Given the description of an element on the screen output the (x, y) to click on. 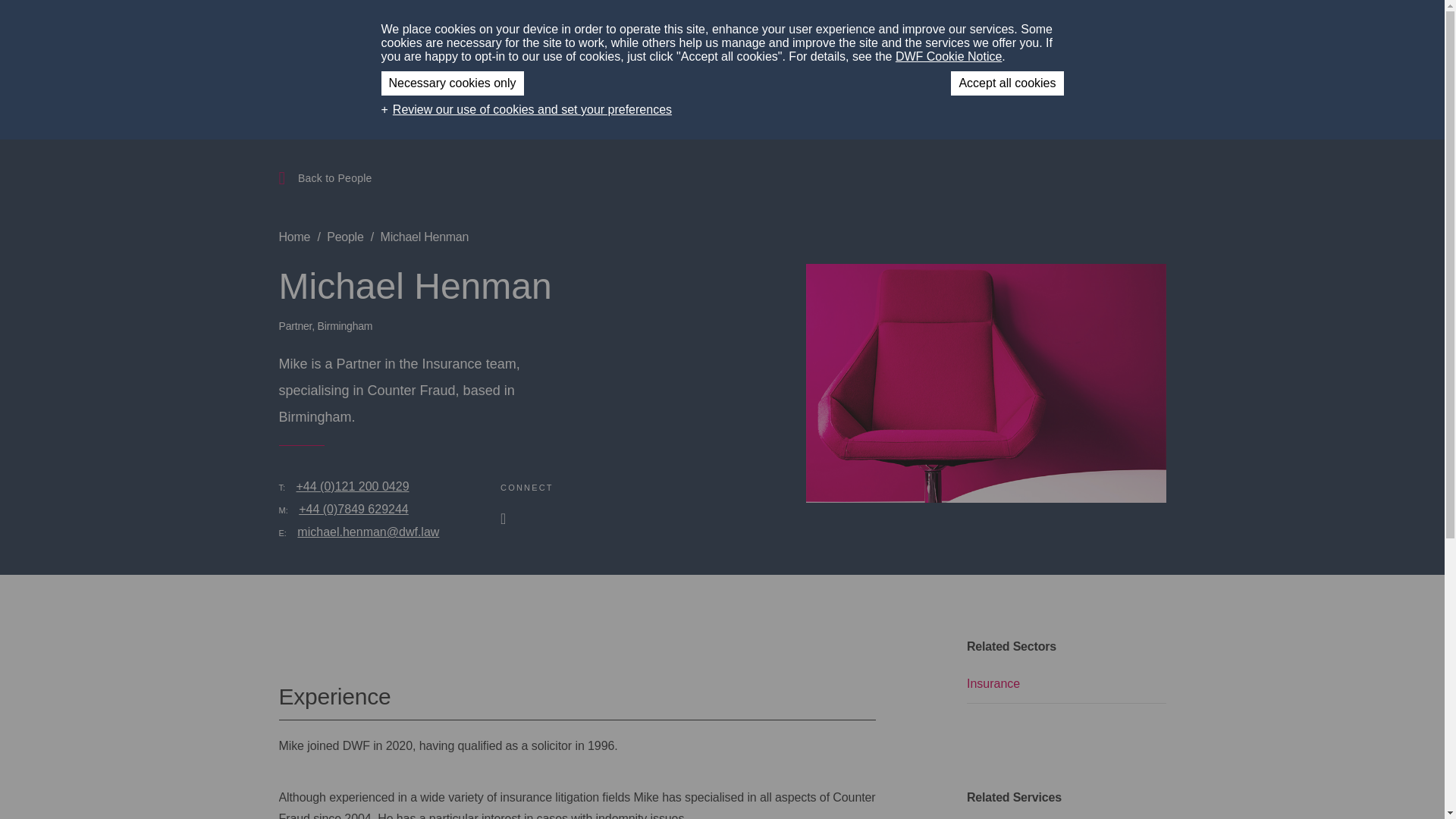
HOME (671, 30)
LOCATIONS (898, 30)
ABOUT (728, 30)
SUSTAINABILITY (813, 30)
CLIENT LOGIN (1063, 30)
CAREERS (977, 30)
